Given the description of an element on the screen output the (x, y) to click on. 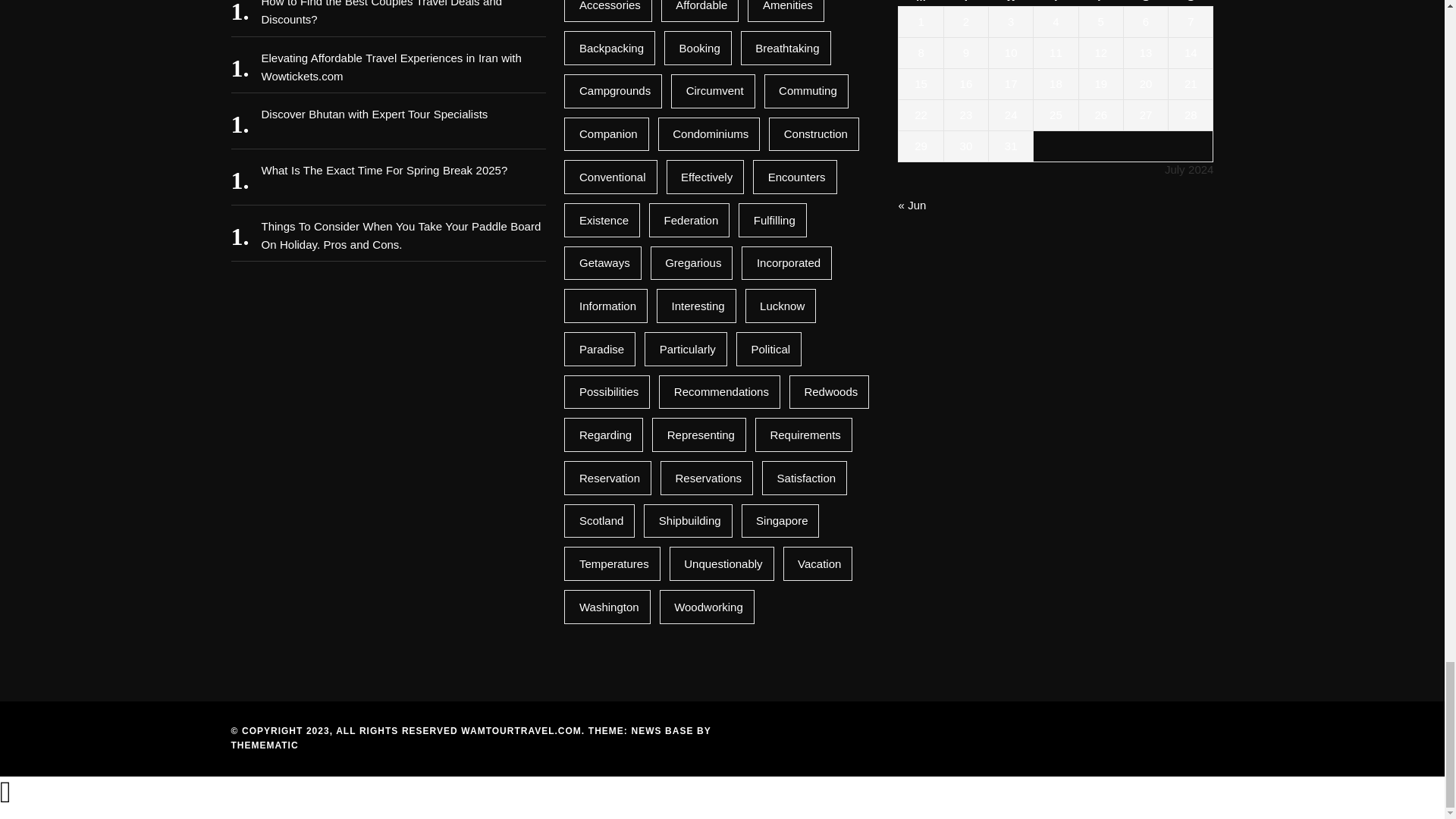
Thursday (1055, 3)
Wednesday (1010, 3)
Monday (920, 3)
Friday (1100, 3)
Saturday (1144, 3)
Sunday (1190, 3)
Tuesday (965, 3)
